Given the description of an element on the screen output the (x, y) to click on. 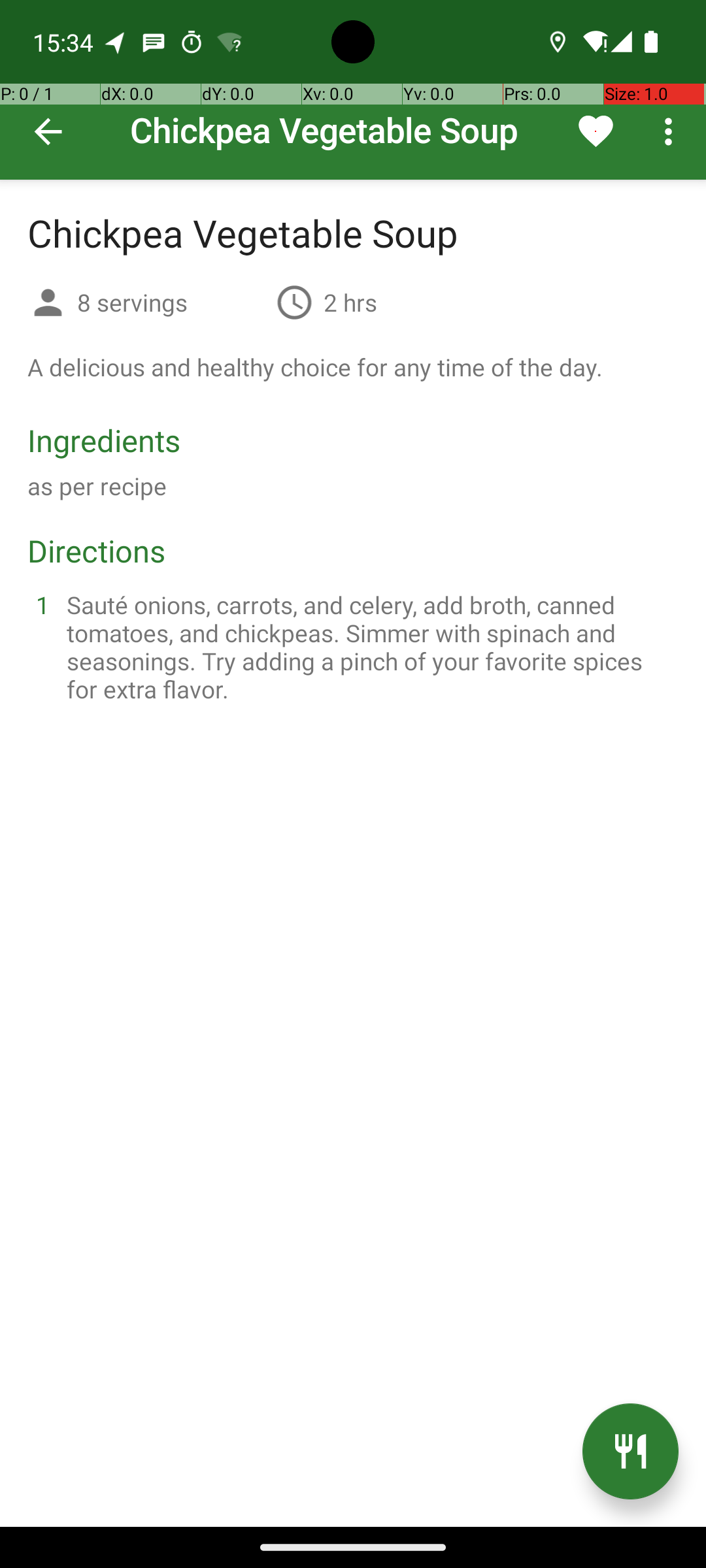
Sauté onions, carrots, and celery, add broth, canned tomatoes, and chickpeas. Simmer with spinach and seasonings. Try adding a pinch of your favorite spices for extra flavor. Element type: android.widget.TextView (368, 646)
